Given the description of an element on the screen output the (x, y) to click on. 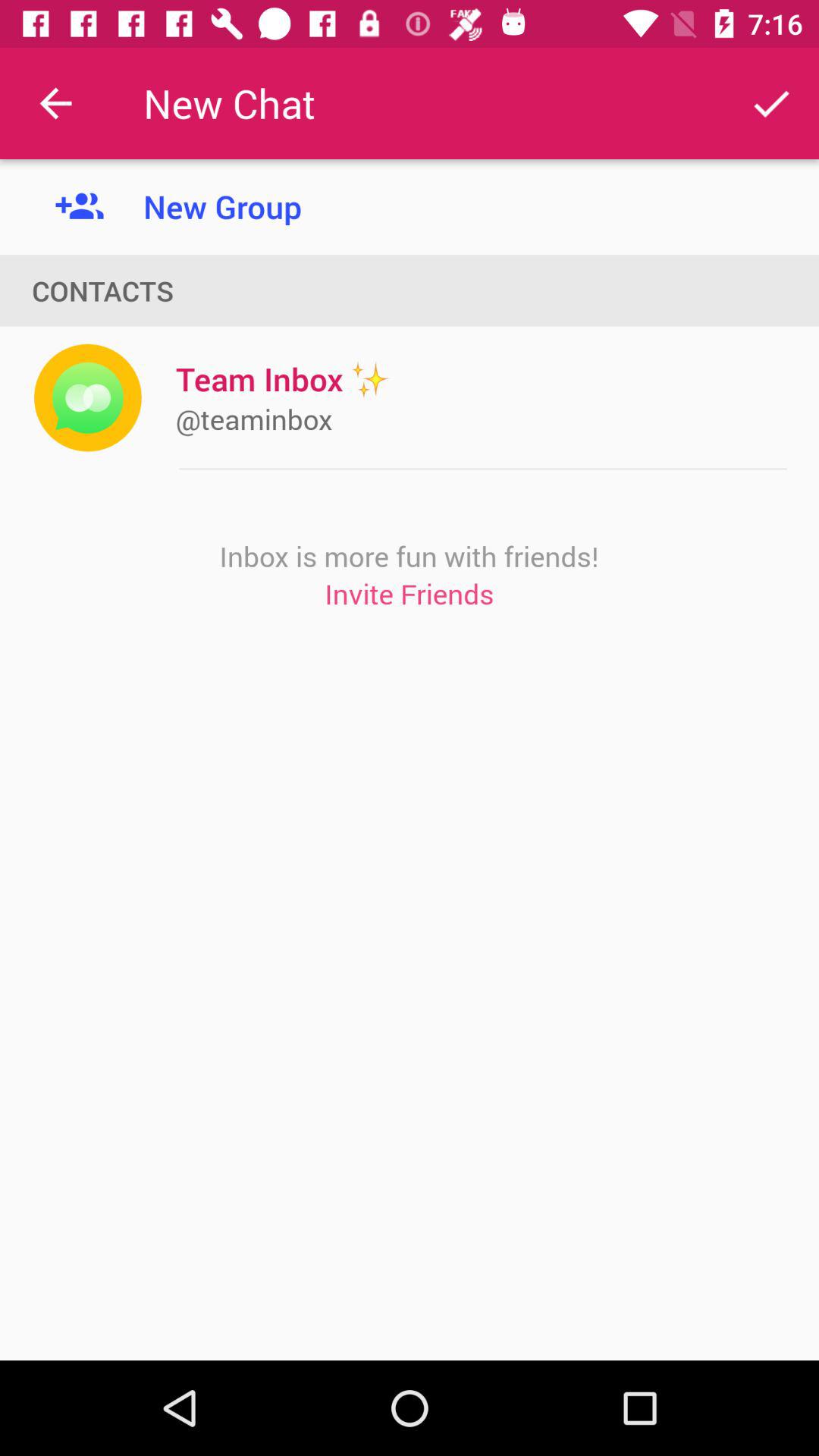
tap the icon at the top right corner (771, 103)
